Given the description of an element on the screen output the (x, y) to click on. 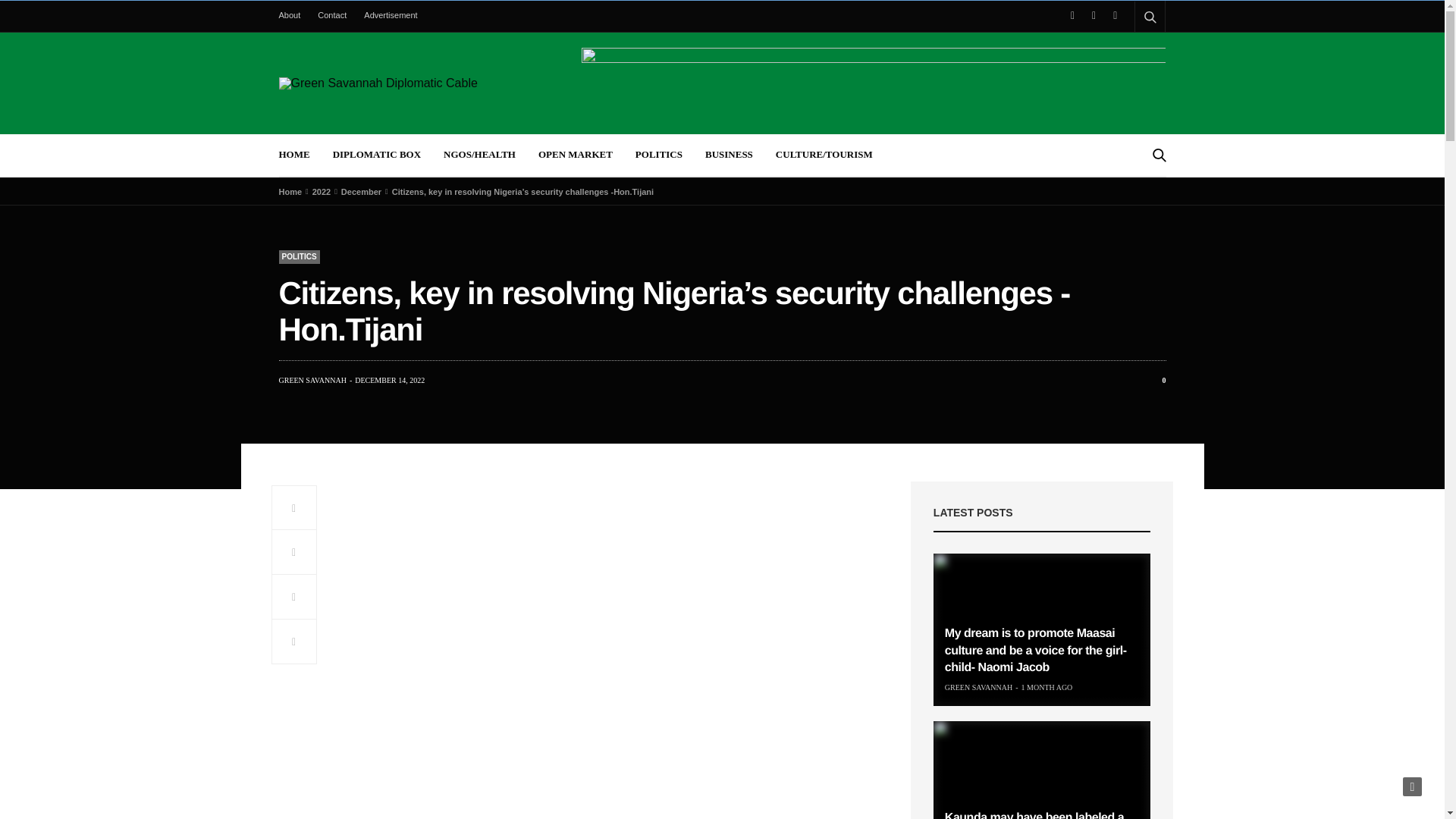
Contact (331, 15)
Politics (299, 256)
POLITICS (299, 256)
Advertisement (390, 15)
Search (1129, 53)
GREEN SAVANNAH (312, 380)
Posts by Green Savannah (977, 687)
